Given the description of an element on the screen output the (x, y) to click on. 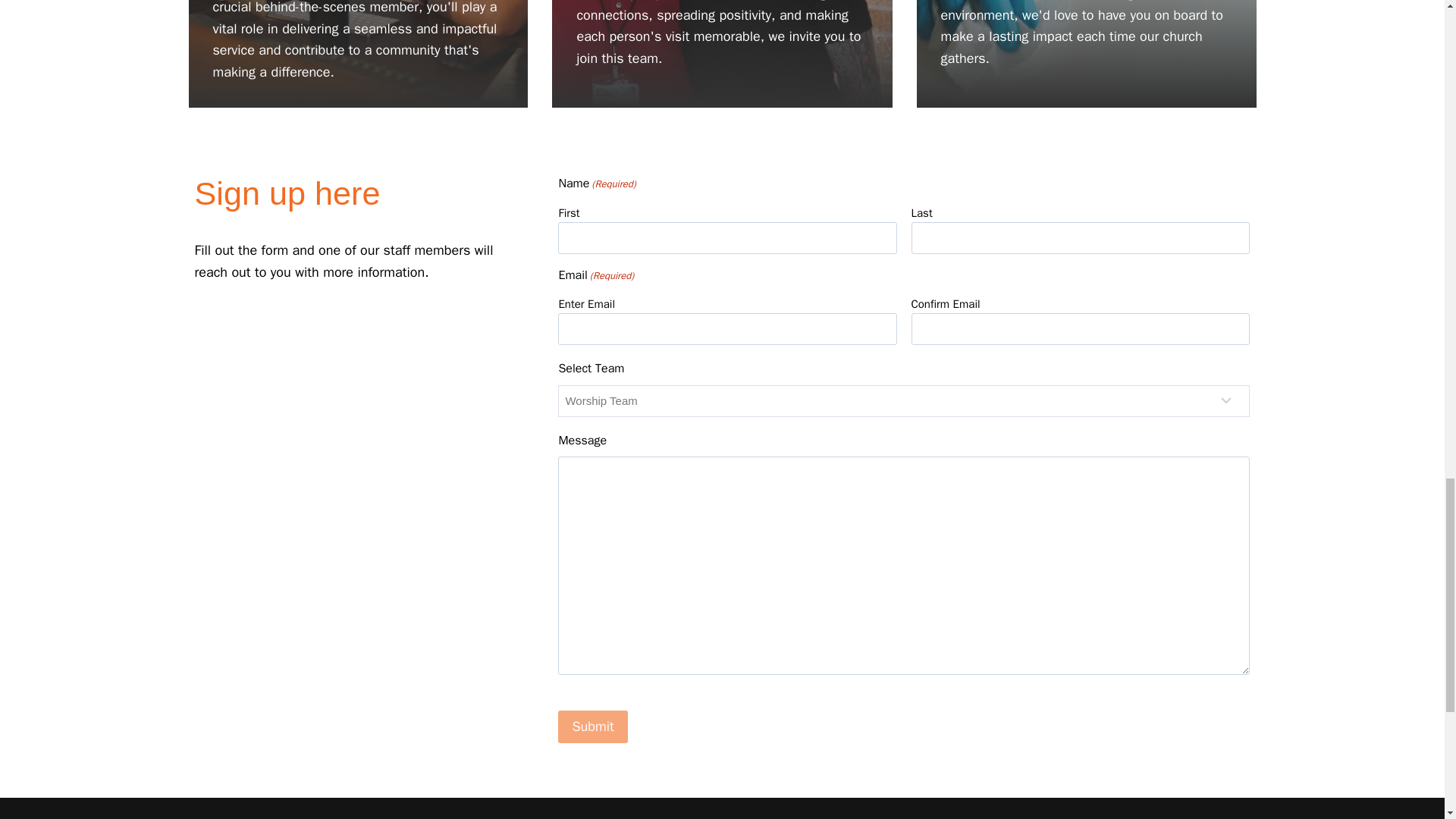
Submit (592, 726)
Submit (592, 726)
